Given the description of an element on the screen output the (x, y) to click on. 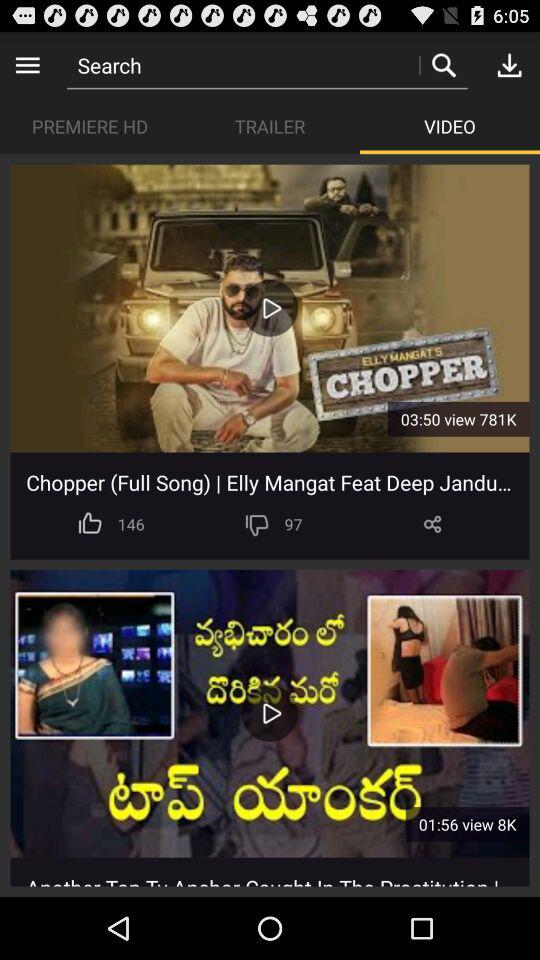
thumbs down (256, 523)
